Given the description of an element on the screen output the (x, y) to click on. 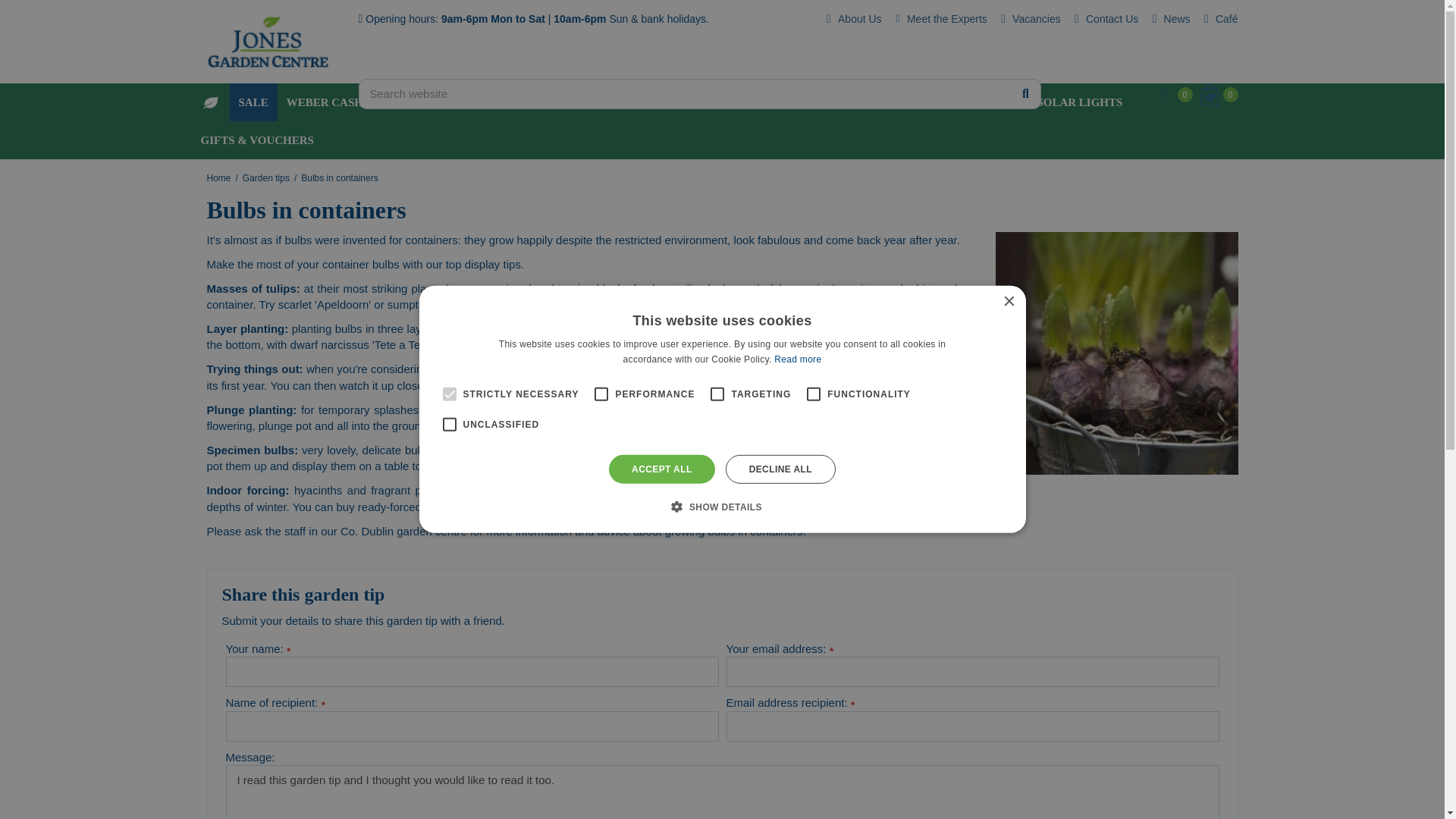
SALE (252, 102)
HOME (209, 102)
Go to the shopping cart (1218, 94)
WEBER CASHBACK (342, 102)
Vacancies (1029, 18)
Vacancies (1029, 18)
No items in wishlist (1173, 94)
Barbecues (592, 102)
Garden tips (266, 177)
BARBECUES (592, 102)
Search (1024, 95)
Go to the wishlist (1168, 94)
Home (209, 102)
Bulbs in containers (339, 177)
PLANTS (806, 102)
